Given the description of an element on the screen output the (x, y) to click on. 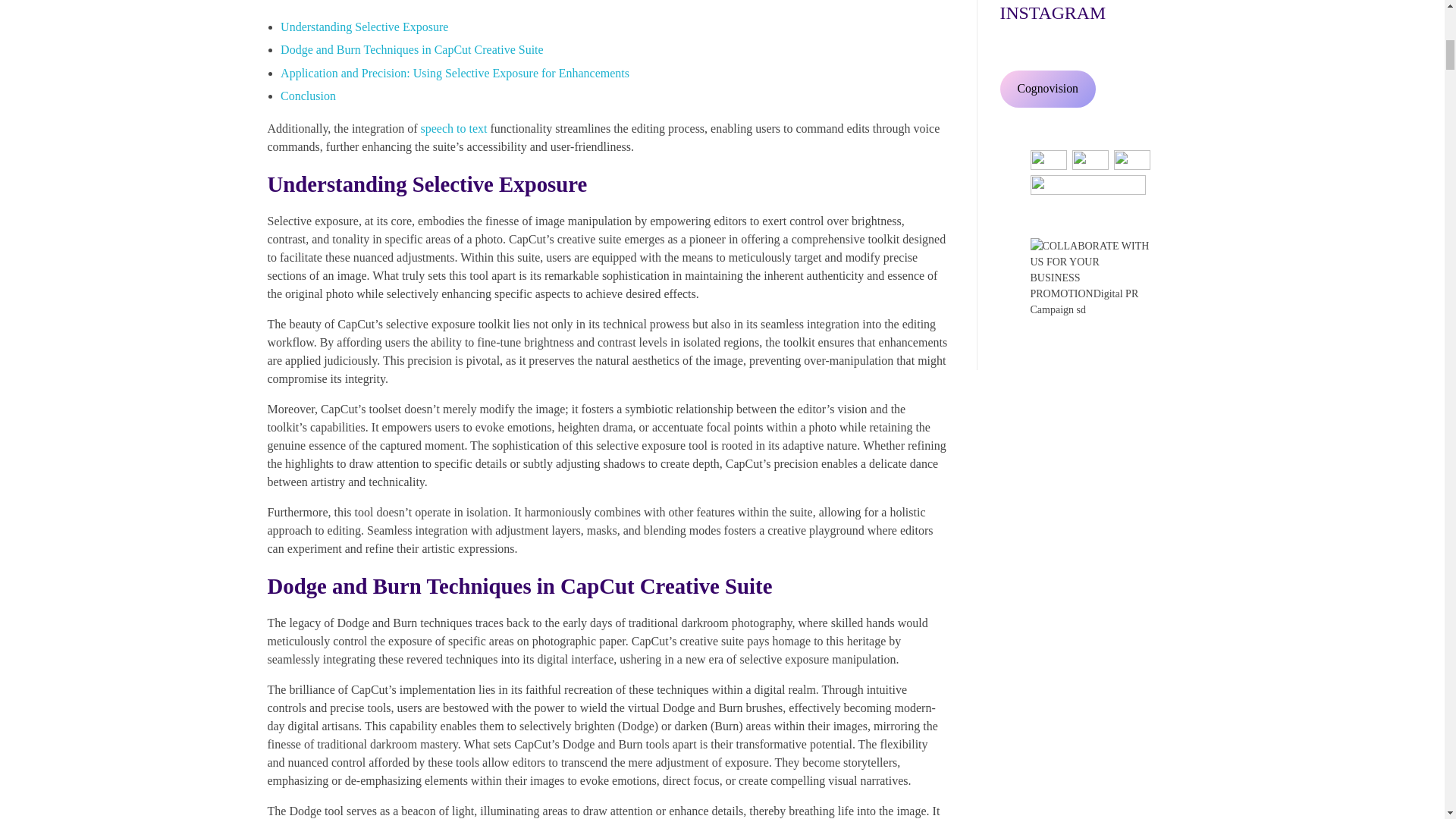
Conclusion (308, 95)
Understanding Selective Exposure (364, 26)
Dodge and Burn Techniques in CapCut Creative Suite (412, 49)
speech to text (453, 128)
